Given the description of an element on the screen output the (x, y) to click on. 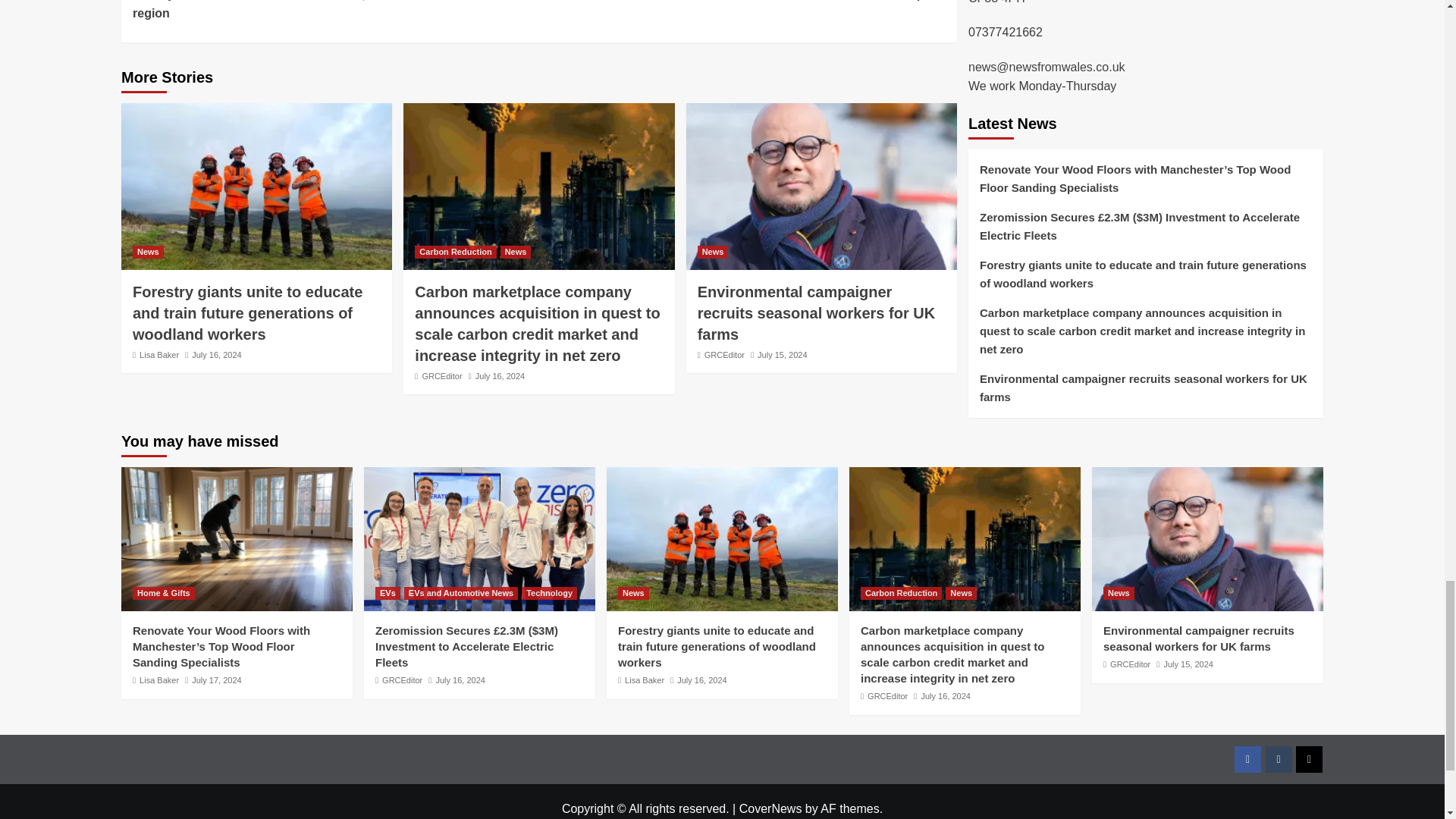
News (515, 251)
Lisa Baker (159, 354)
July 16, 2024 (216, 354)
GRCEditor (441, 375)
Carbon Reduction (455, 251)
News (147, 251)
July 16, 2024 (500, 375)
